Given the description of an element on the screen output the (x, y) to click on. 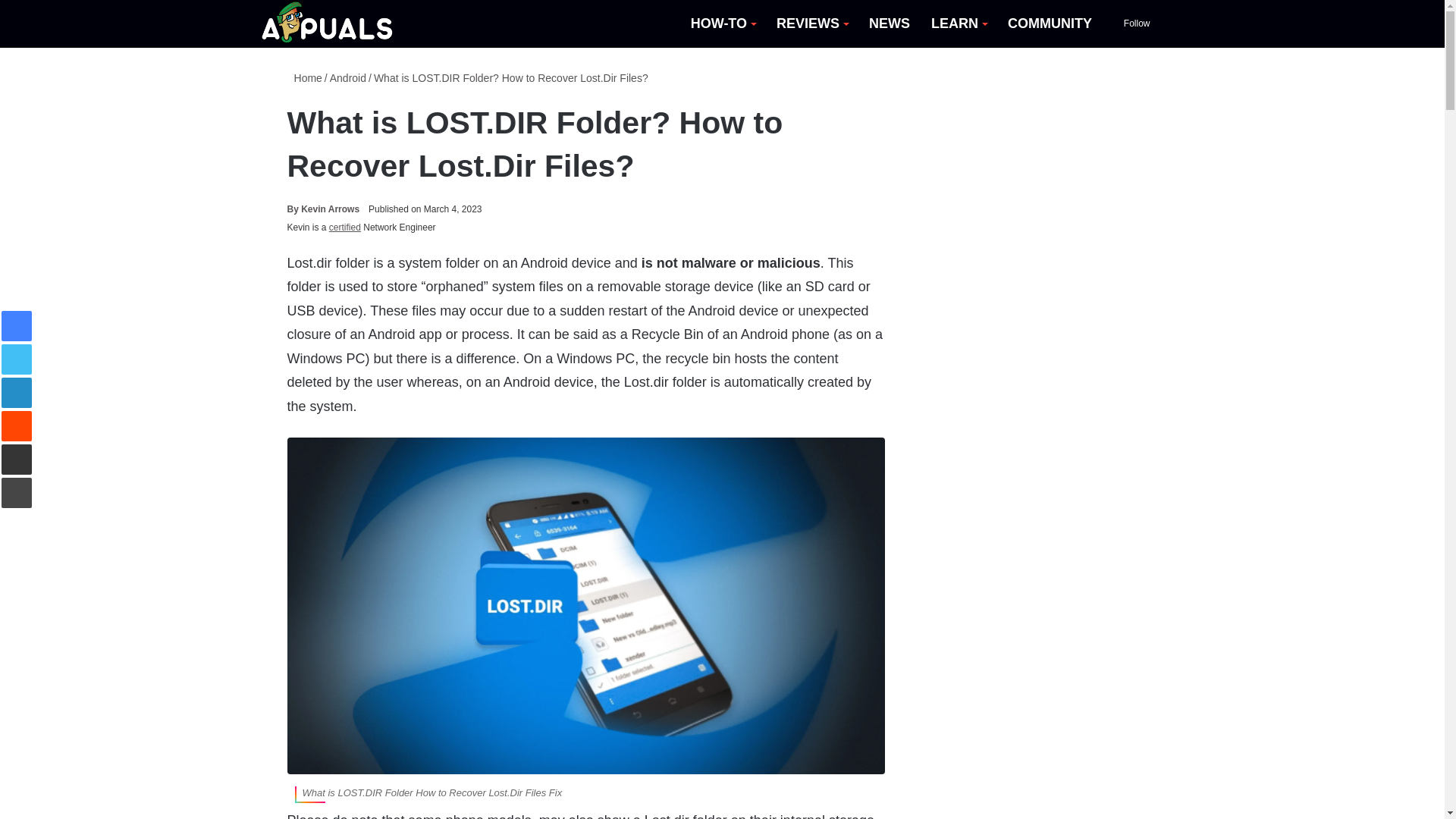
Kevin Arrows (322, 208)
COMMUNITY (1049, 23)
LEARN (958, 23)
HOW-TO (722, 23)
Twitter (16, 358)
LinkedIn (16, 392)
Reddit (16, 426)
REVIEWS (812, 23)
Facebook (16, 326)
Share via Email (16, 459)
